Given the description of an element on the screen output the (x, y) to click on. 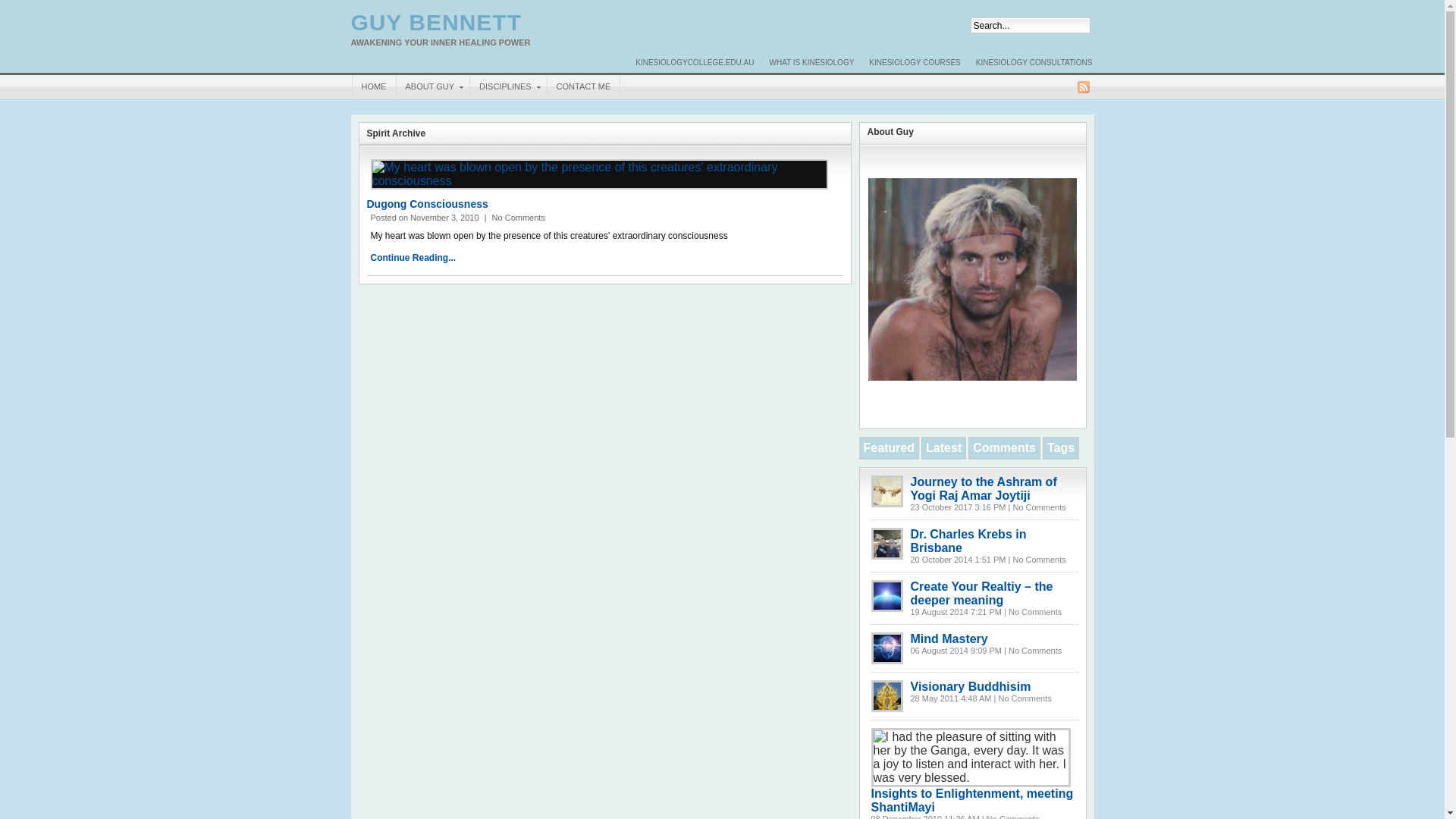
Dugong Consciousness Element type: text (427, 203)
Comments Element type: text (1003, 447)
Featured Element type: text (888, 447)
Dr. Charles Krebs in Brisbane Element type: hover (886, 543)
Journey to the Ashram of Yogi Raj Amar Joytiji Element type: text (983, 488)
Visionary Buddhisim Element type: text (970, 686)
Tags Element type: text (1060, 447)
Visionary Buddhisim Element type: hover (886, 695)
Mind Mastery Element type: text (948, 638)
HOME Element type: text (373, 86)
Journey to the Ashram of Yogi Raj Amar Joytiji Element type: hover (886, 491)
Insights to Enlightenment, meeting ShantiMayi Element type: text (971, 800)
KINESIOLOGY COURSES Element type: text (914, 62)
Dr. Charles Krebs in Brisbane Element type: text (968, 540)
WHAT IS KINESIOLOGY Element type: text (811, 62)
KINESIOLOGY CONSULTATIONS Element type: text (1034, 62)
Latest Element type: text (943, 447)
GUY BENNETT Element type: text (435, 21)
Continue Reading... Element type: text (412, 257)
Dugong Consciousness Element type: hover (598, 174)
CONTACT ME Element type: text (583, 86)
RSS Feed Element type: text (1082, 87)
KINESIOLOGYCOLLEGE.EDU.AU Element type: text (694, 62)
Mind Mastery Element type: hover (886, 648)
Insights to Enlightenment, meeting ShantiMayi Element type: hover (970, 757)
